Given the description of an element on the screen output the (x, y) to click on. 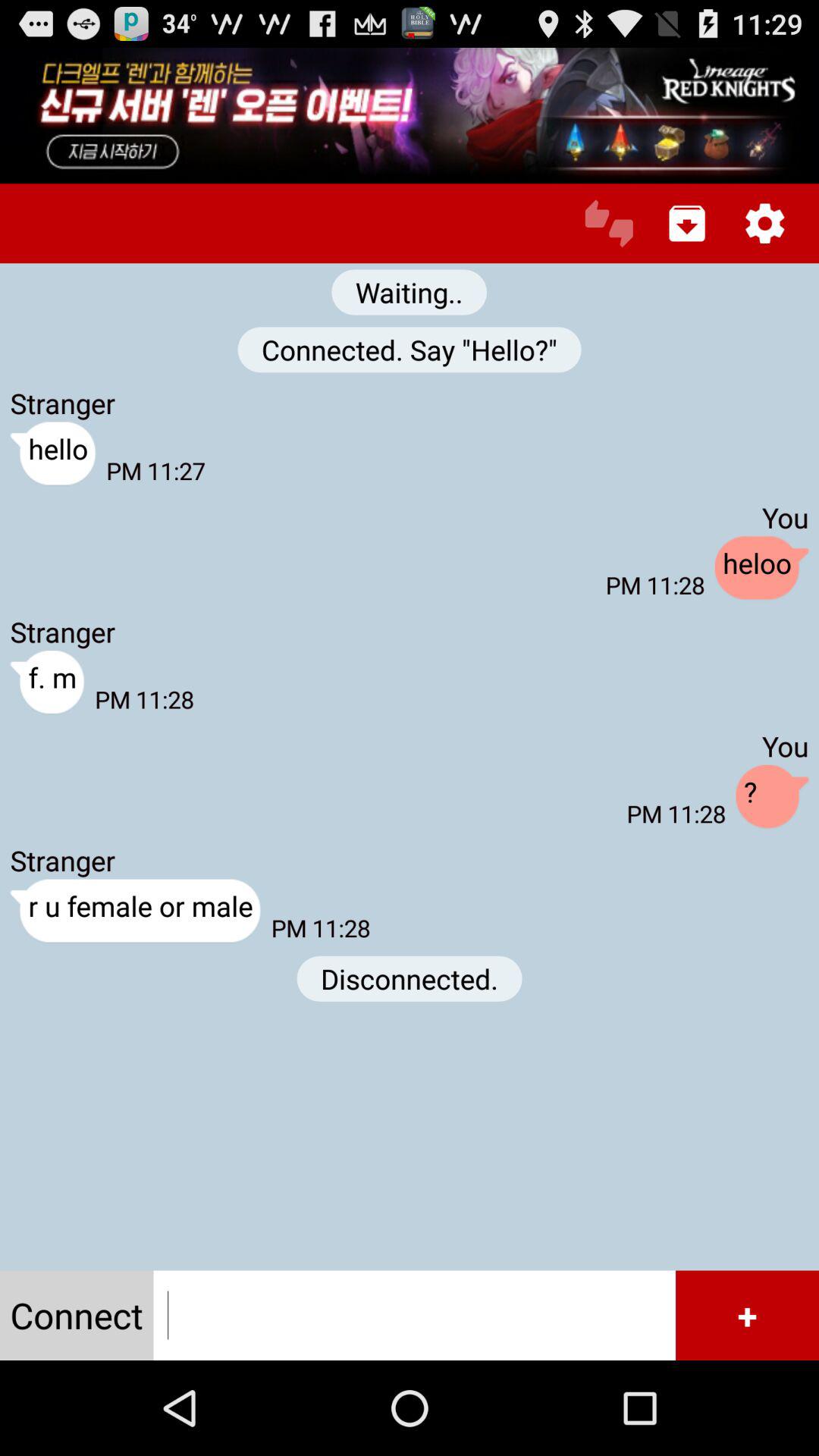
connect to chat (414, 1315)
